Given the description of an element on the screen output the (x, y) to click on. 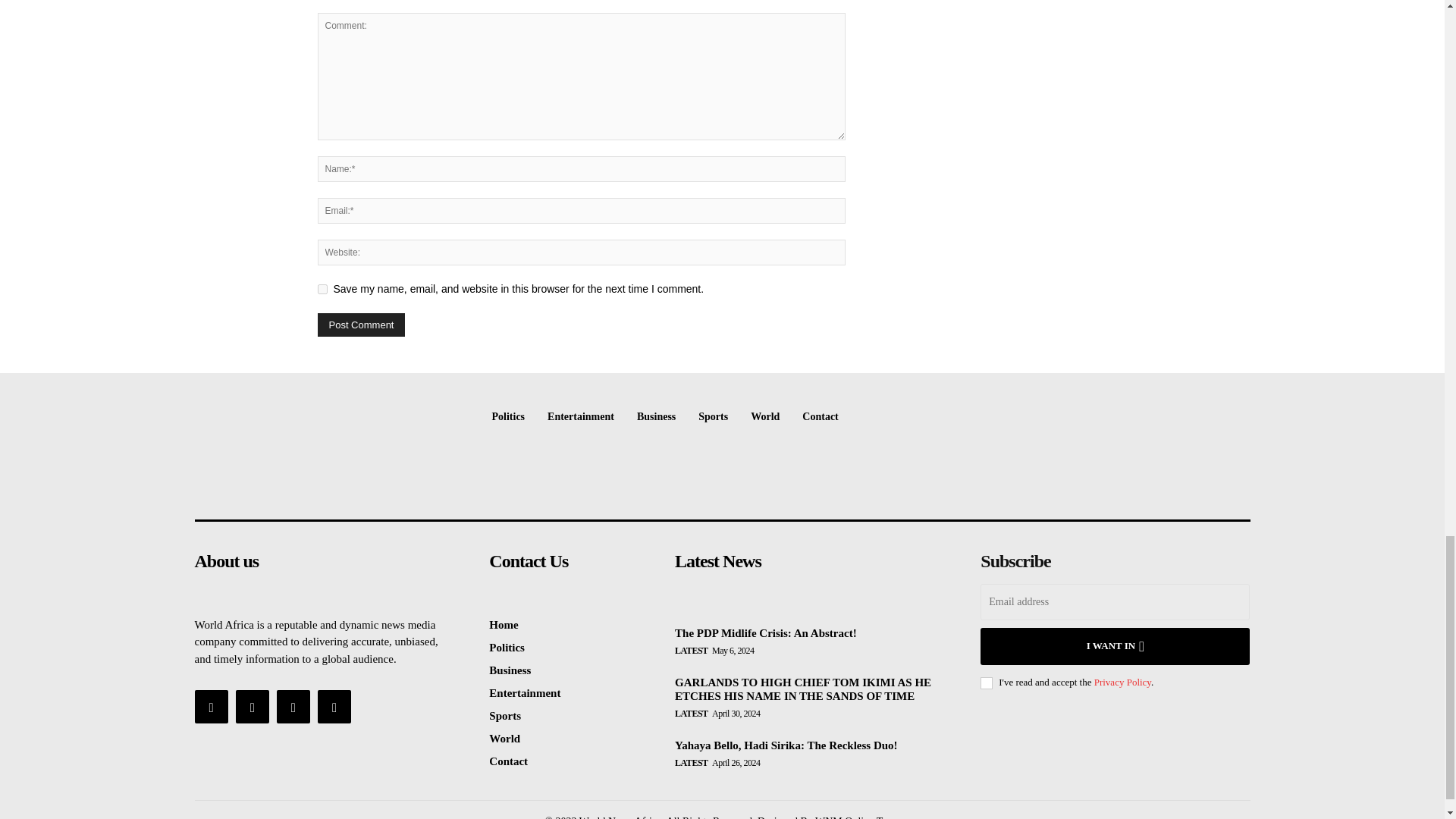
yes (321, 289)
Post Comment (360, 324)
